Given the description of an element on the screen output the (x, y) to click on. 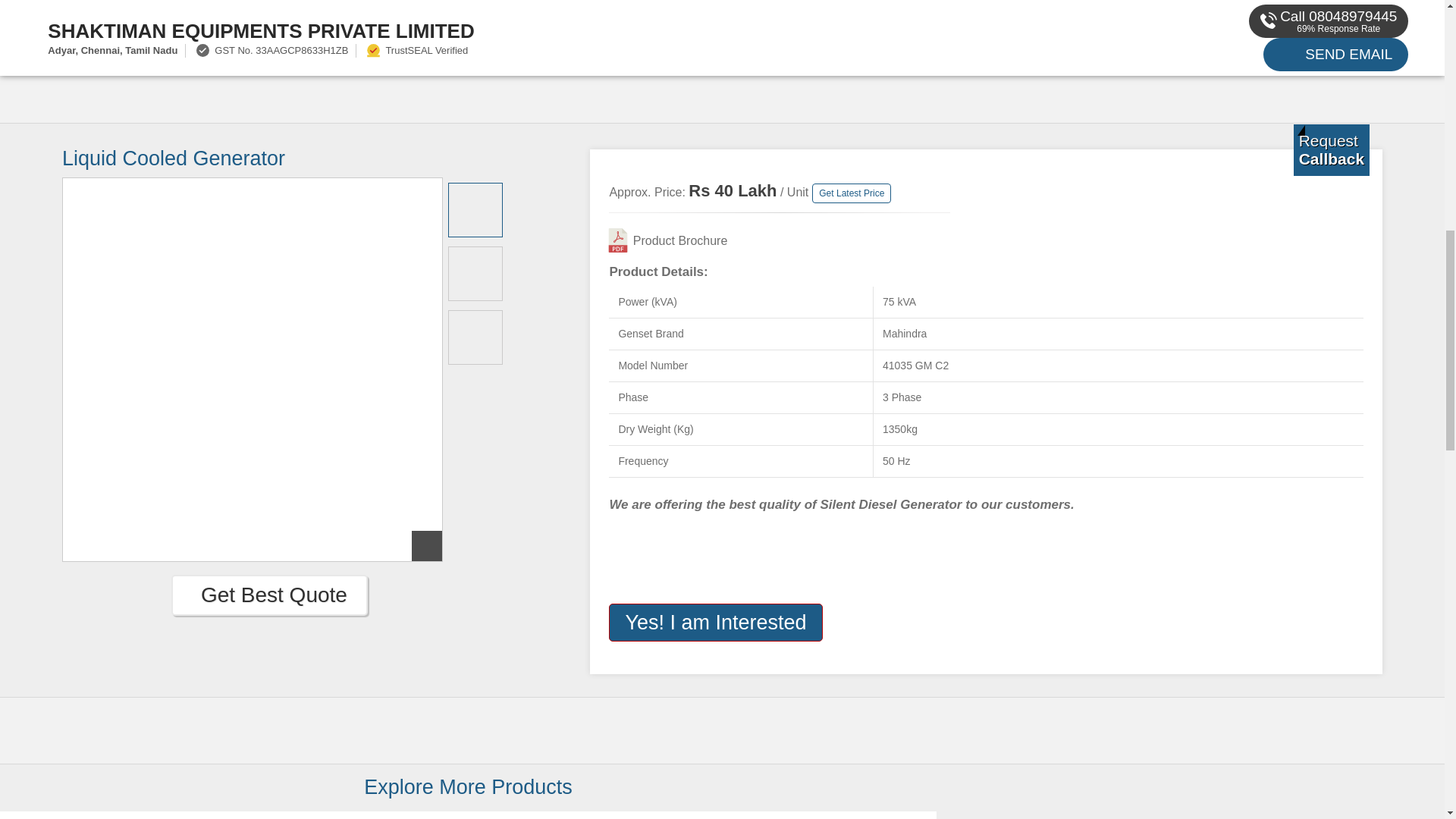
Get a Call from us (1332, 150)
